Given the description of an element on the screen output the (x, y) to click on. 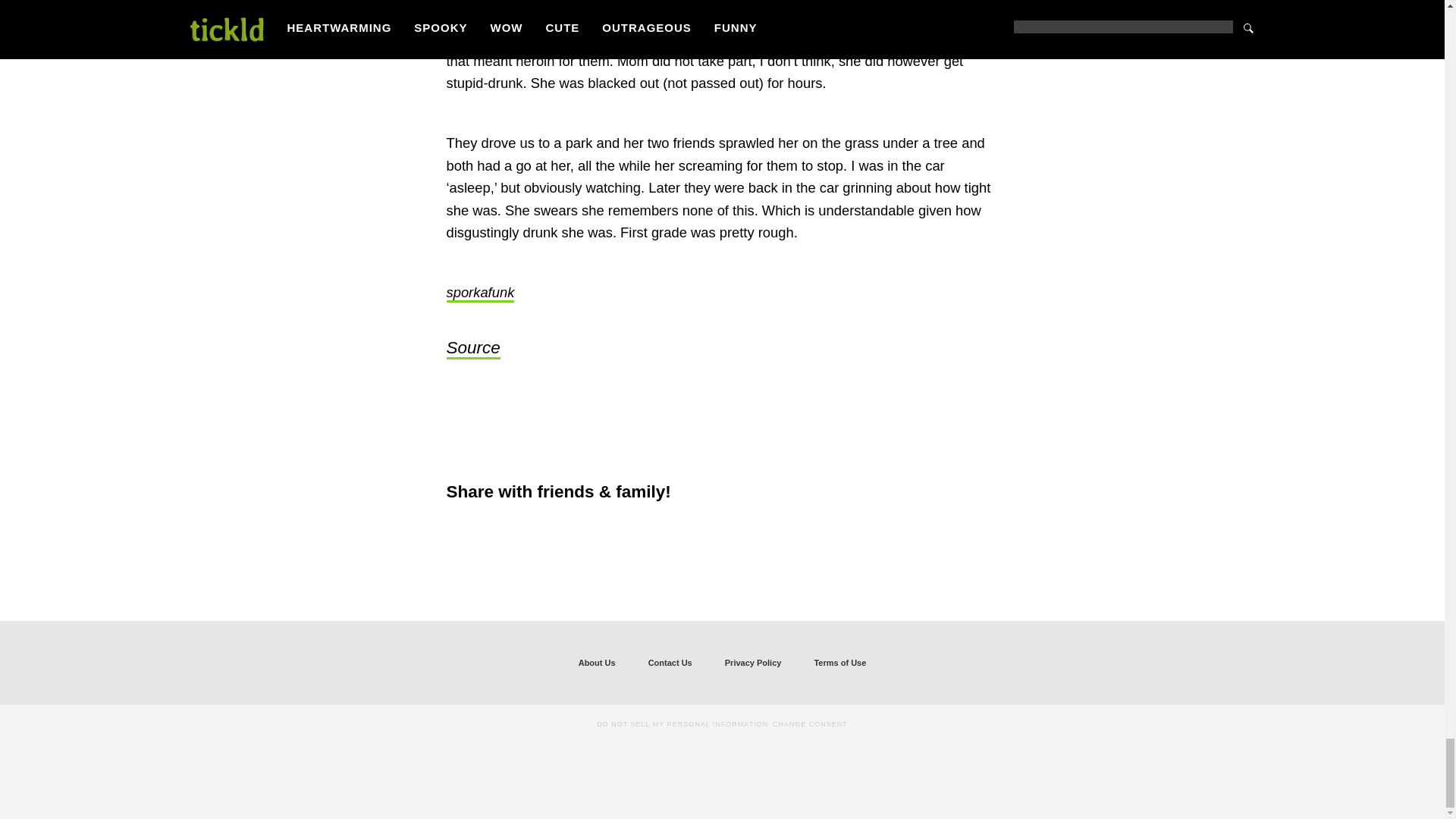
Source (472, 348)
sporkafunk (479, 293)
